Given the description of an element on the screen output the (x, y) to click on. 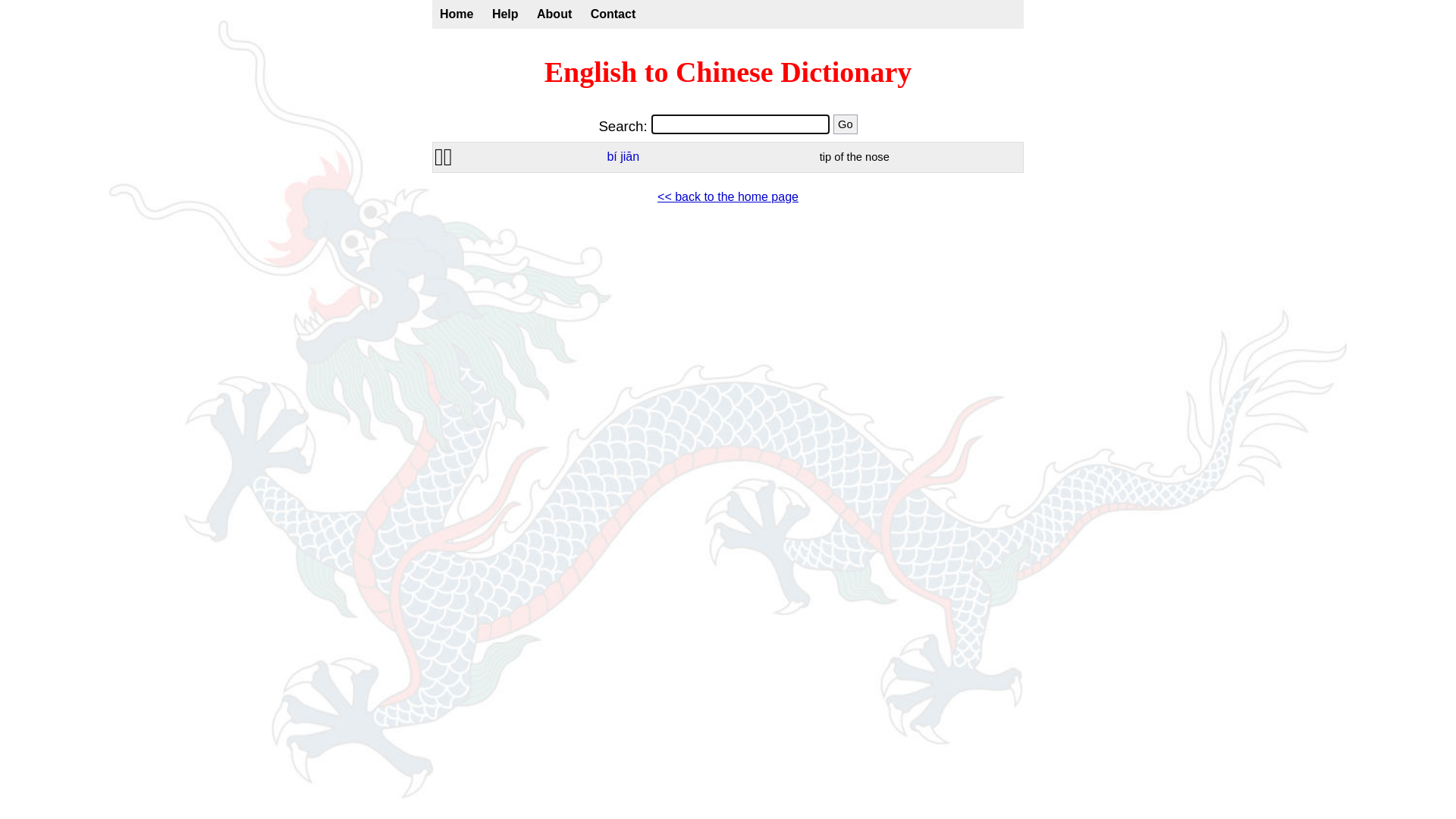
Home Element type: text (456, 14)
<< back to the home page Element type: text (727, 196)
English to Chinese Dictionary Element type: text (728, 71)
Help Element type: text (505, 14)
Contact Element type: text (613, 14)
About Element type: text (554, 14)
Go Element type: text (845, 124)
